Given the description of an element on the screen output the (x, y) to click on. 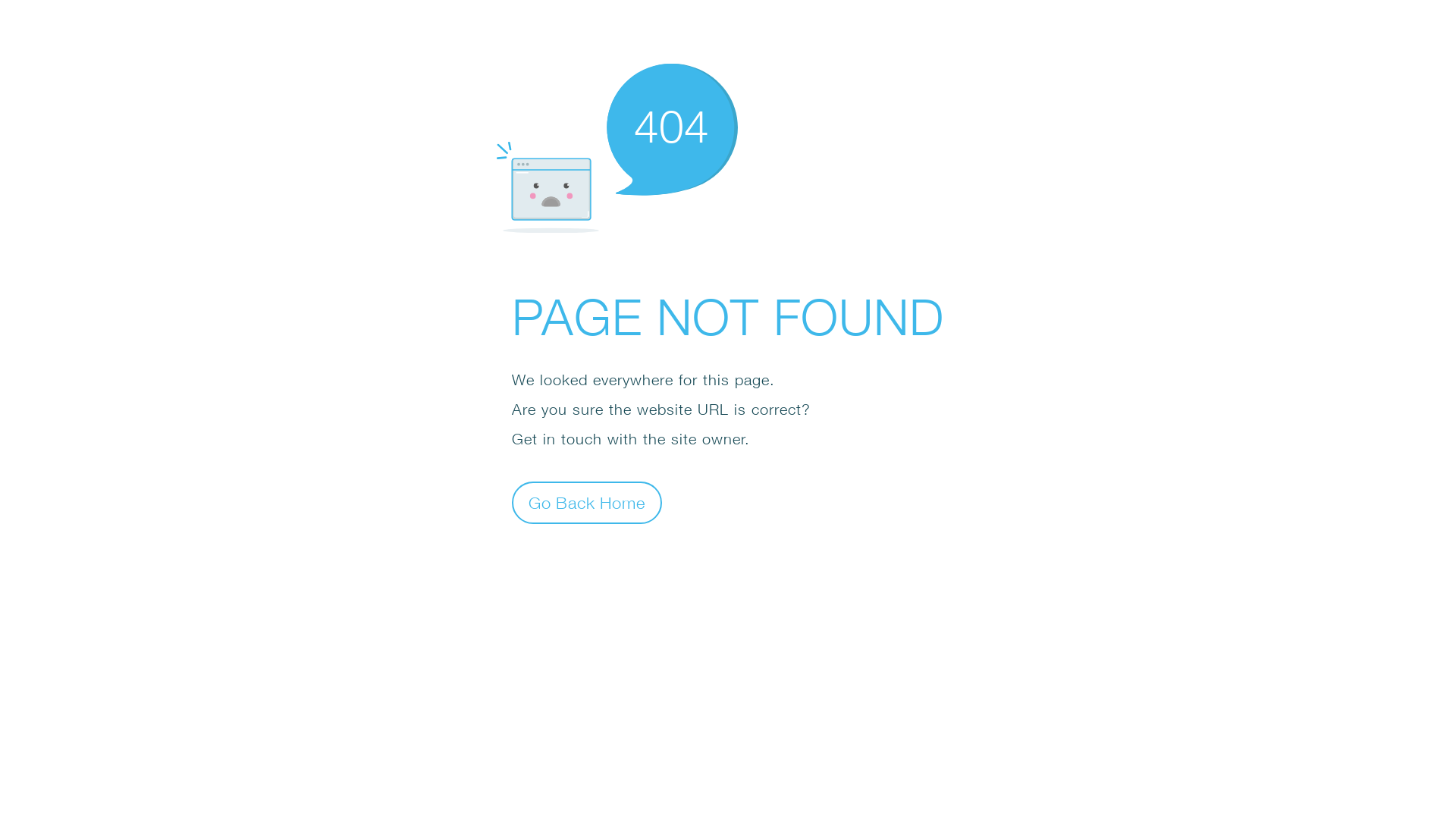
Go Back Home Element type: text (586, 502)
